Given the description of an element on the screen output the (x, y) to click on. 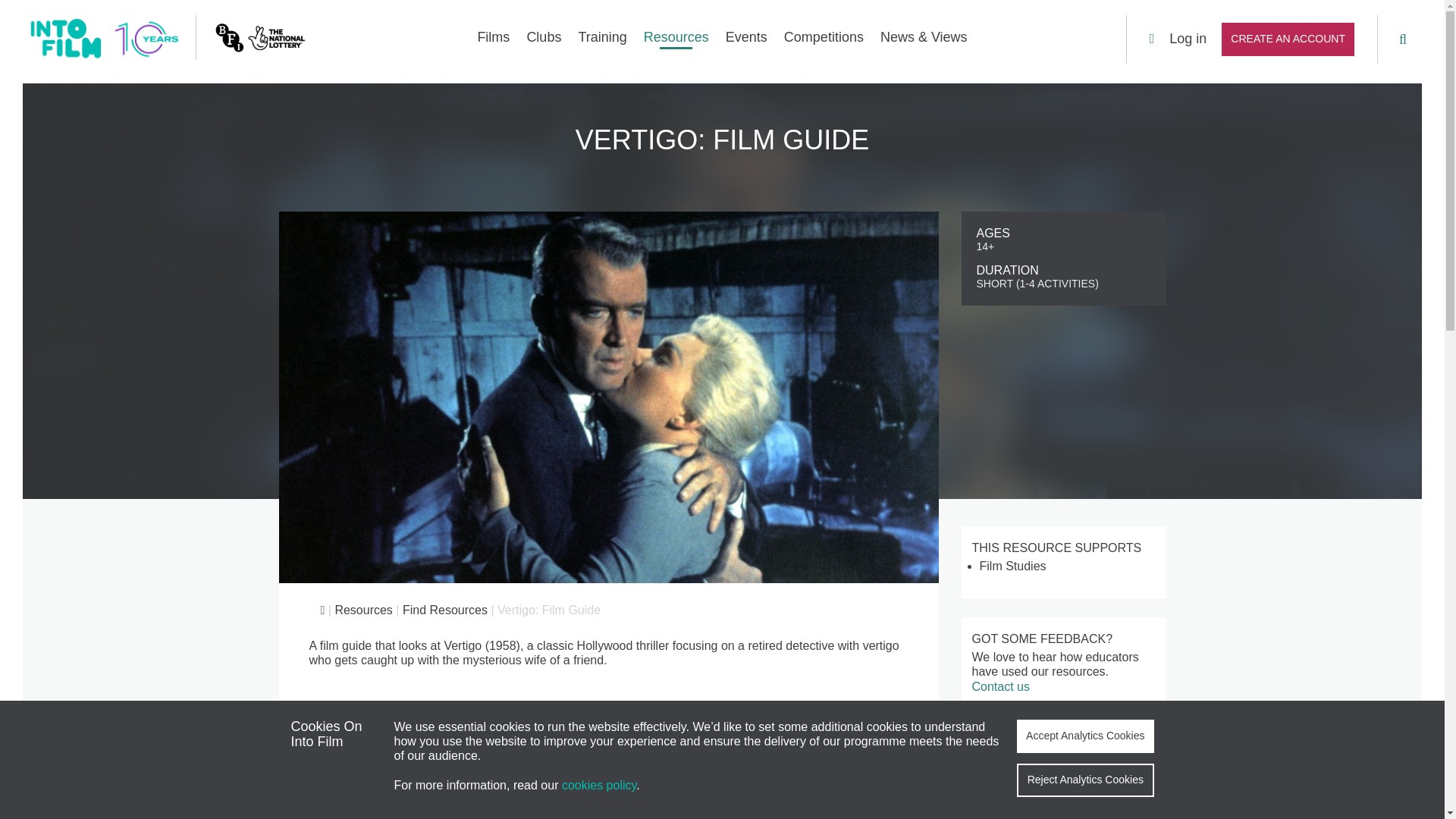
Accept Analytics Cookies (1084, 735)
Get in touch with any of our offices across the UK.  (297, 666)
Events (746, 41)
Resources (675, 41)
Training (601, 41)
